Given the description of an element on the screen output the (x, y) to click on. 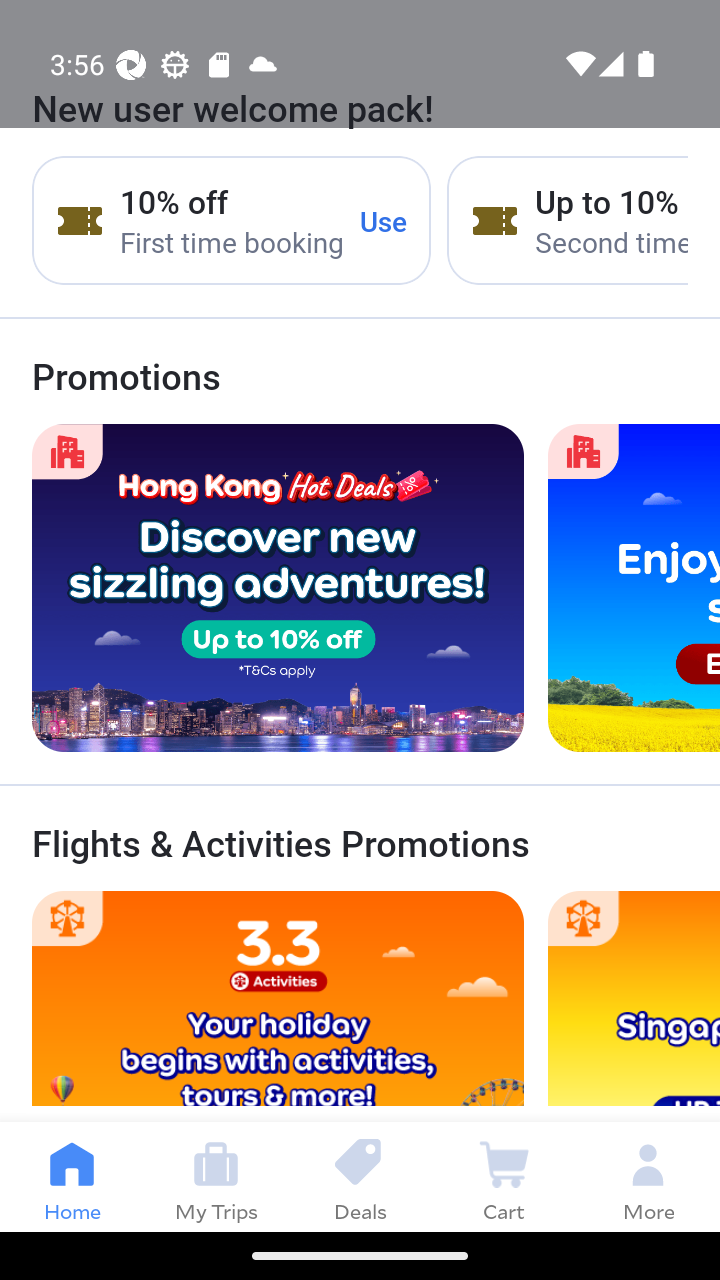
Use (384, 220)
Home (72, 1176)
My Trips (216, 1176)
Deals (360, 1176)
Cart (504, 1176)
More (648, 1176)
